Given the description of an element on the screen output the (x, y) to click on. 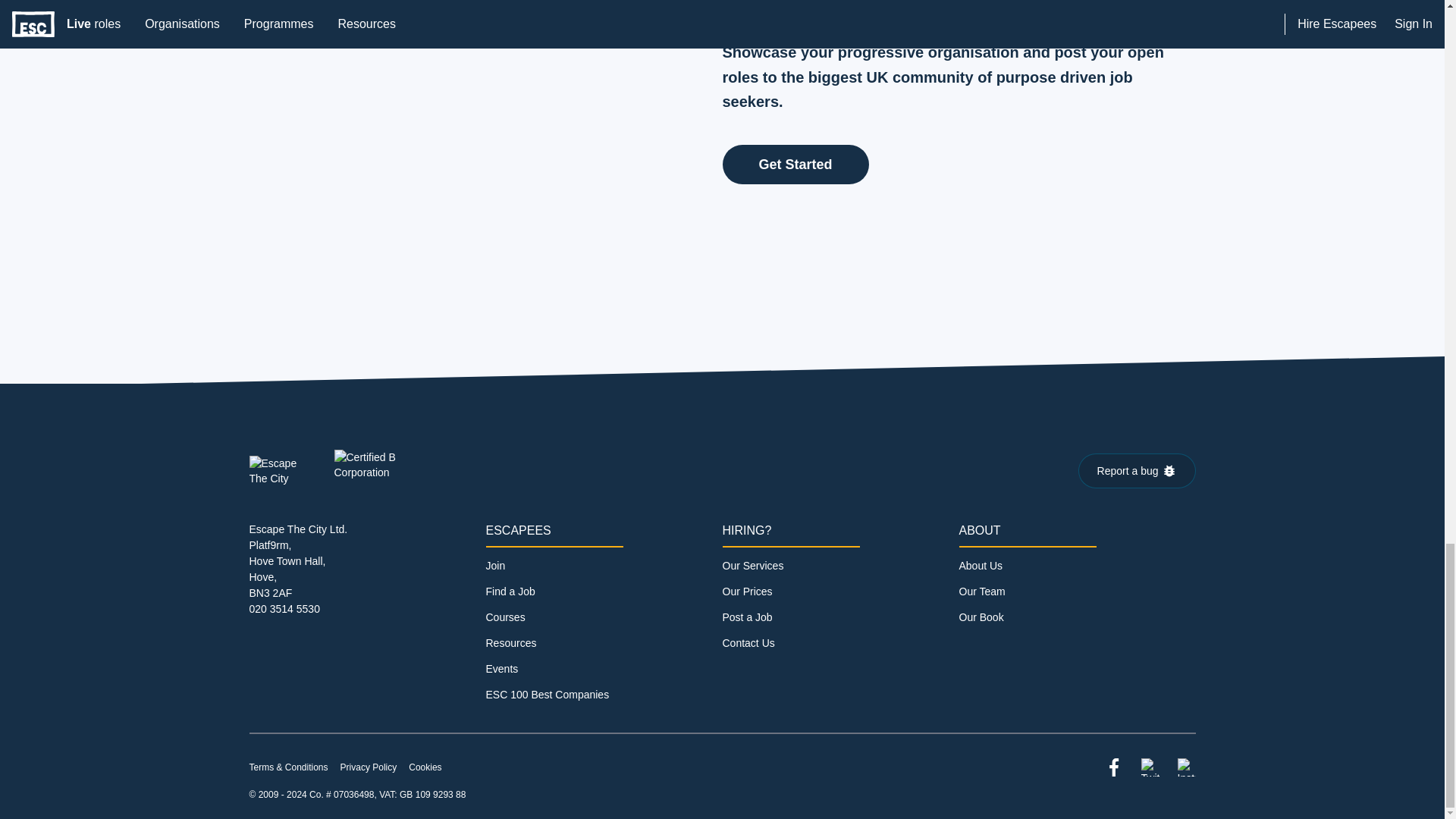
020 3514 5530 (283, 608)
Report a bug (1136, 470)
Get Started (794, 163)
Our Services (752, 565)
Courses (504, 616)
Events (501, 668)
ESC 100 Best Companies (546, 694)
Resources (509, 643)
Find a Job (509, 591)
